Given the description of an element on the screen output the (x, y) to click on. 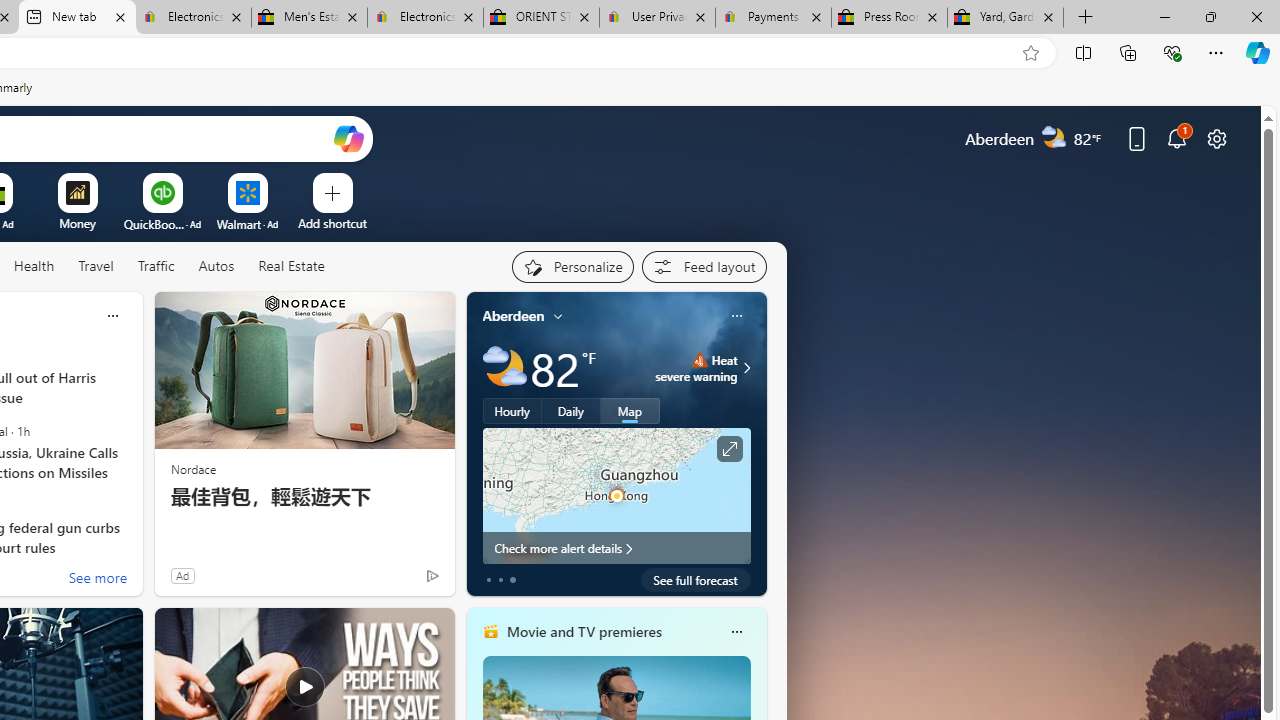
Aberdeen (513, 315)
Travel (95, 267)
Personalize your feed" (571, 266)
Heat - Severe (699, 359)
Notifications (1176, 138)
Press Room - eBay Inc. (889, 17)
Real Estate (290, 267)
Click to see more information (728, 449)
Money (77, 223)
